Given the description of an element on the screen output the (x, y) to click on. 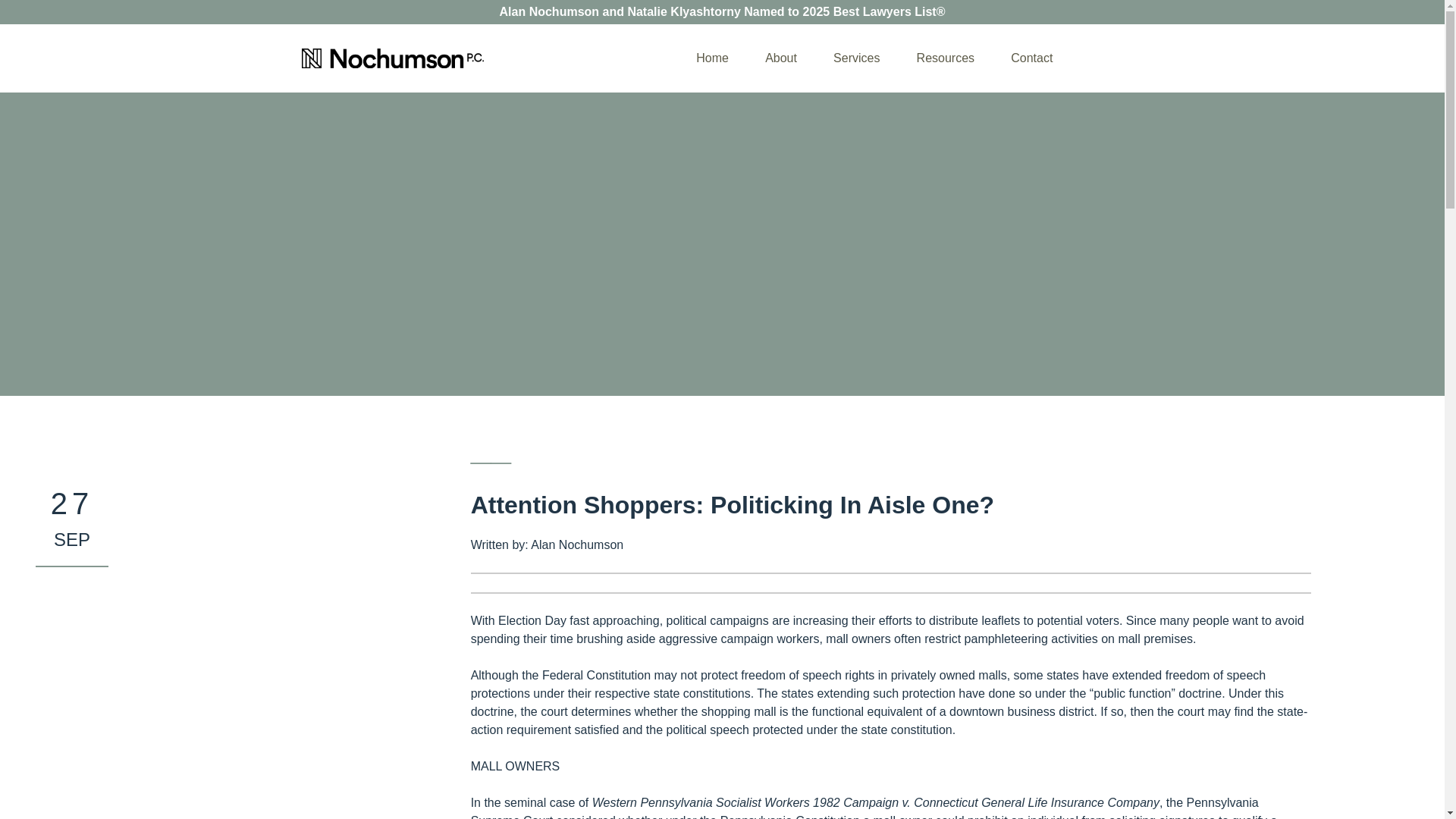
Search (22, 9)
Services (855, 57)
Contact (1031, 57)
Resources (945, 57)
